Given the description of an element on the screen output the (x, y) to click on. 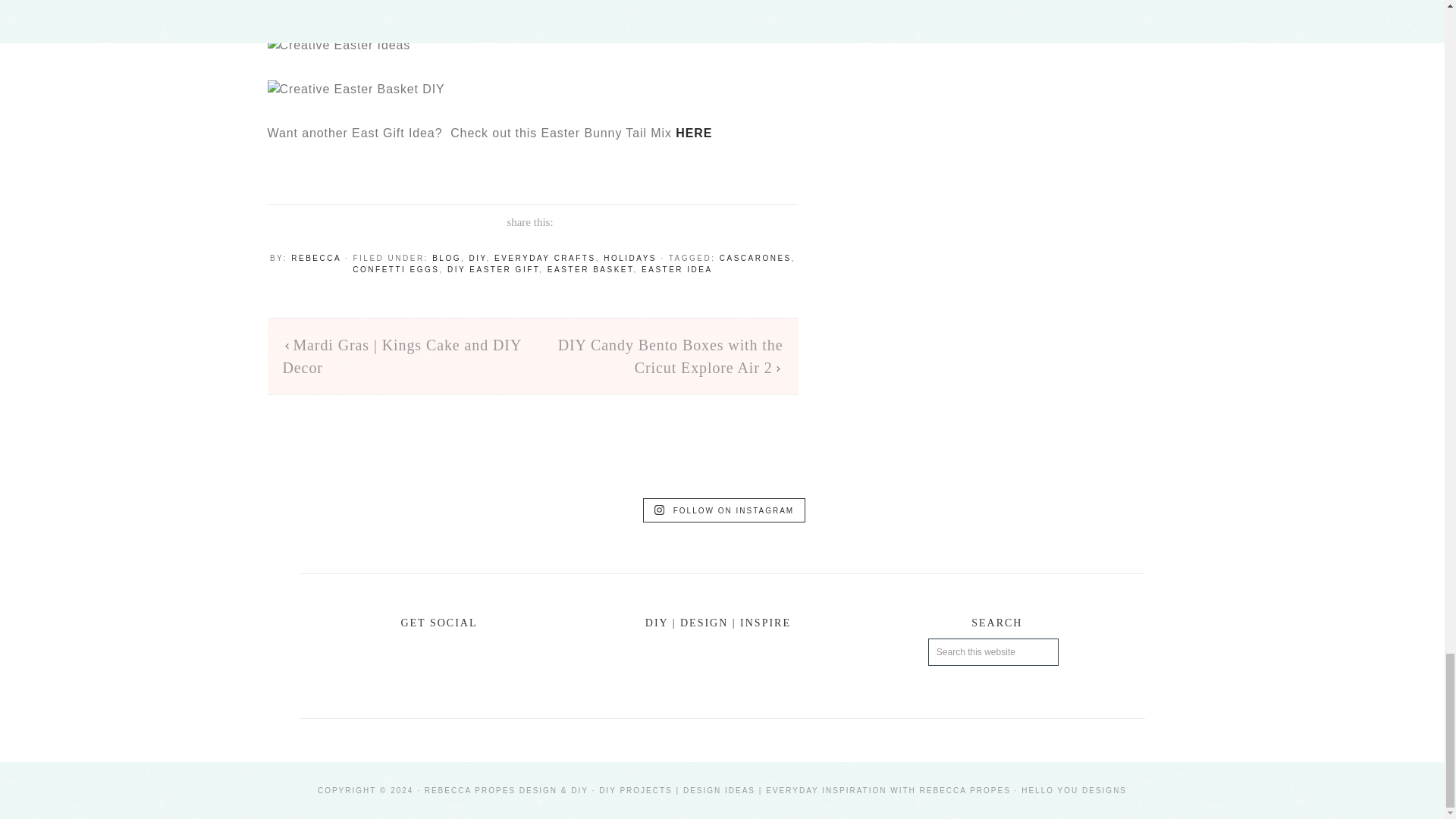
EVERYDAY CRAFTS (545, 257)
EASTER IDEA (677, 269)
HOLIDAYS (630, 257)
CASCARONES (755, 257)
REBECCA (315, 257)
CONFETTI EGGS (395, 269)
DIY EASTER GIFT (492, 269)
EASTER BASKET (590, 269)
